Given the description of an element on the screen output the (x, y) to click on. 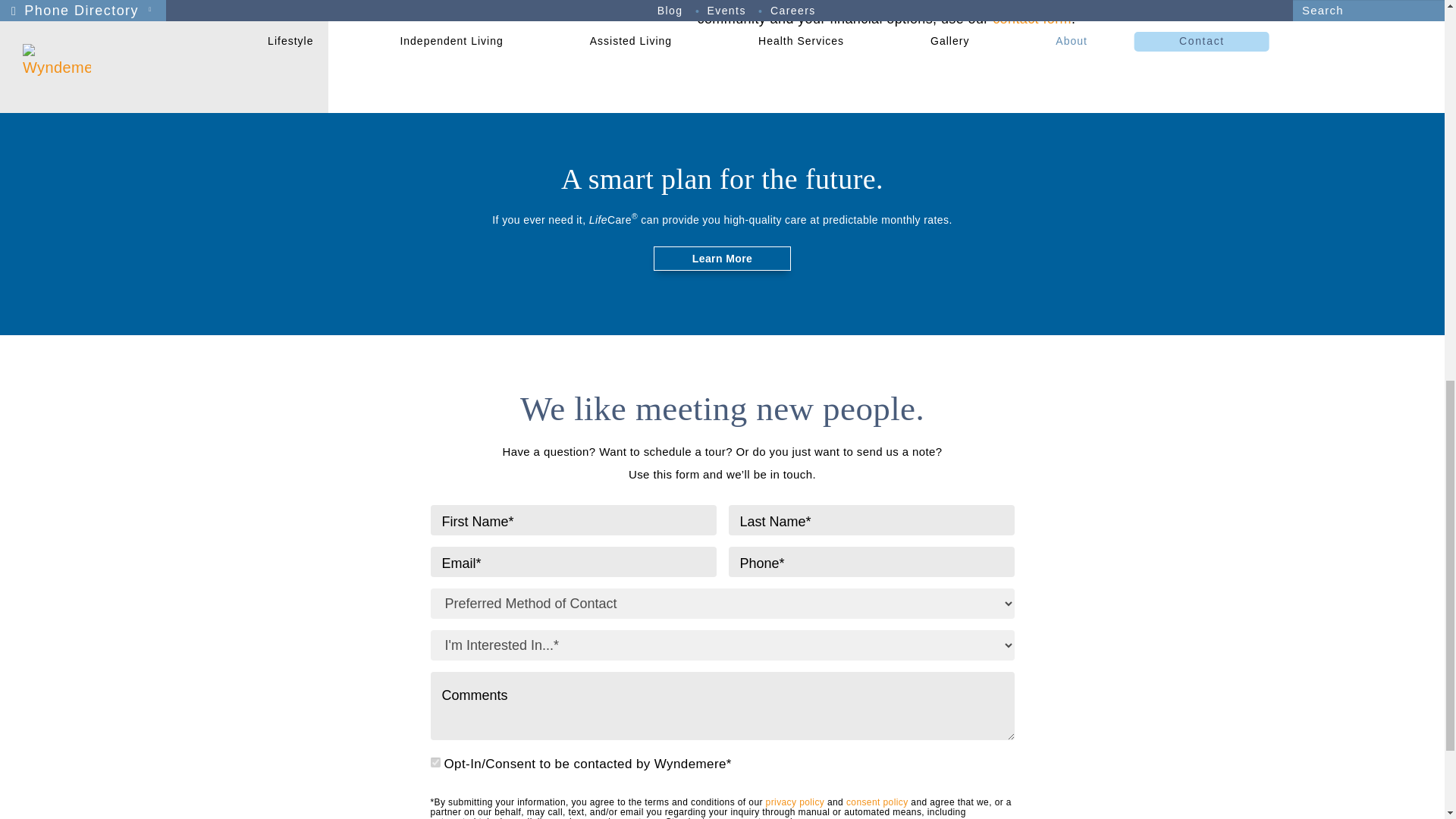
true (435, 762)
